Given the description of an element on the screen output the (x, y) to click on. 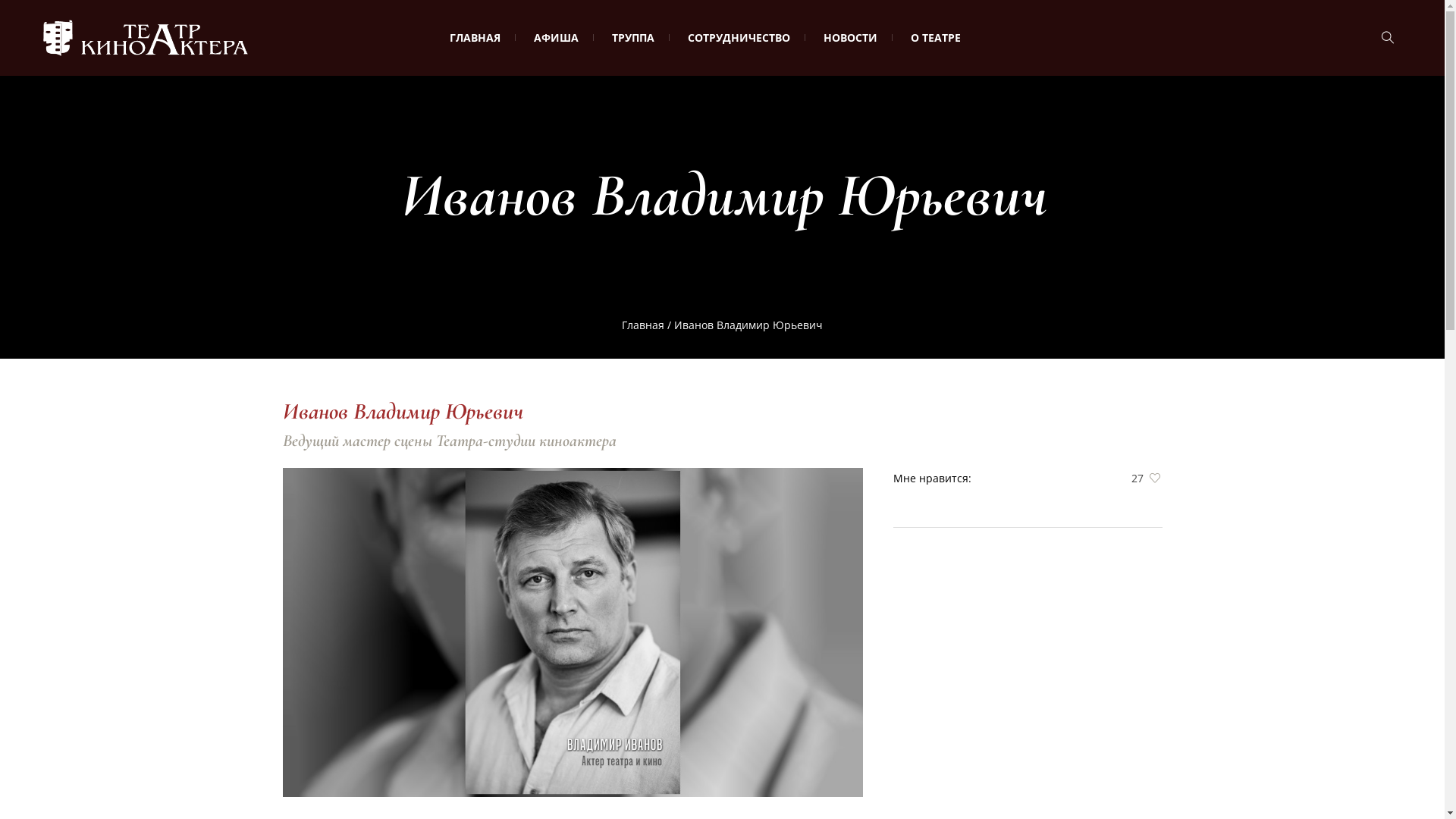
27 Element type: text (1134, 477)
